Given the description of an element on the screen output the (x, y) to click on. 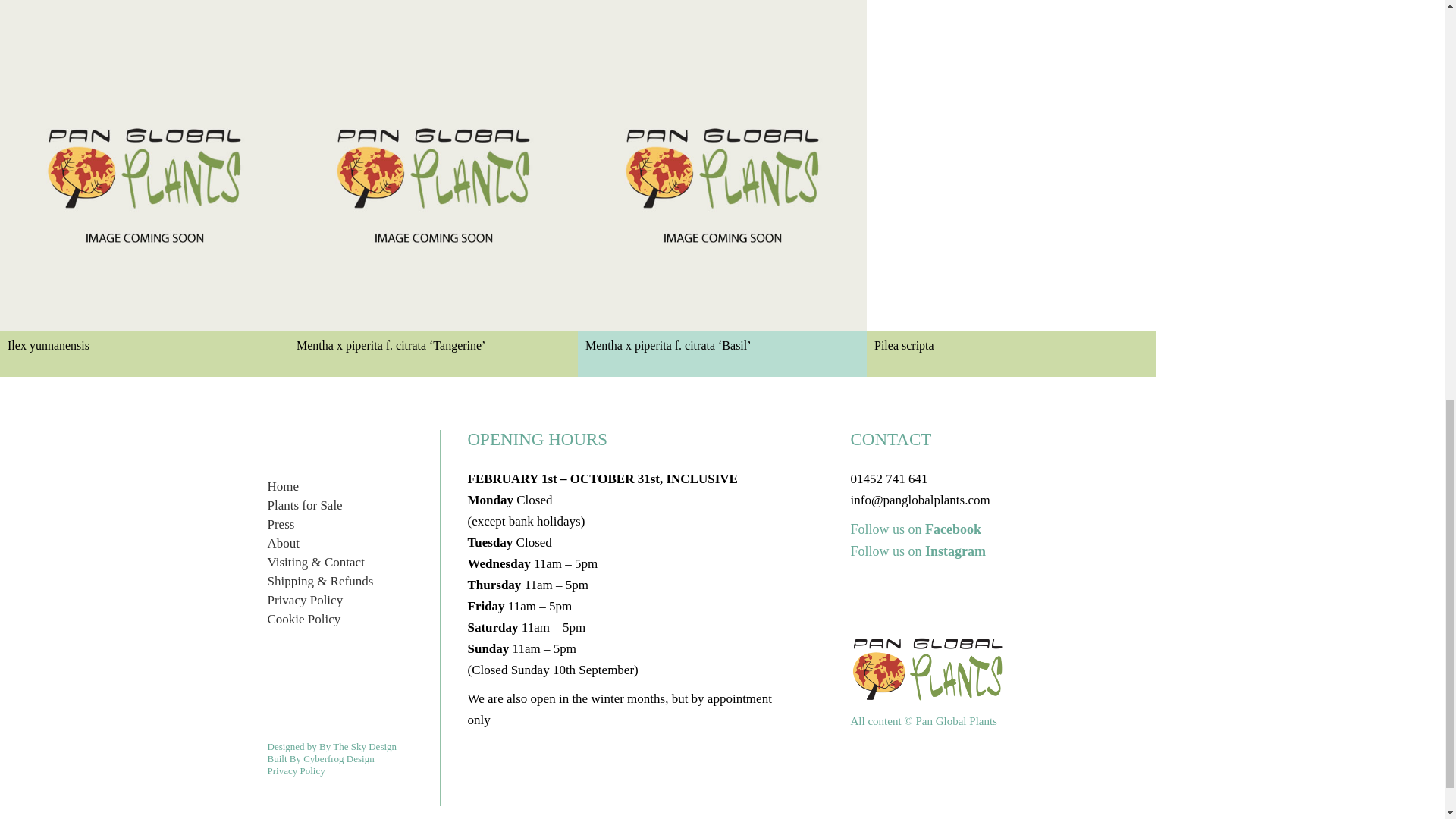
Home (282, 486)
Cookie Policy (303, 618)
Plants for Sale (304, 504)
By The Sky Design (357, 746)
About (282, 543)
Privacy Policy (304, 599)
Press (280, 523)
